Given the description of an element on the screen output the (x, y) to click on. 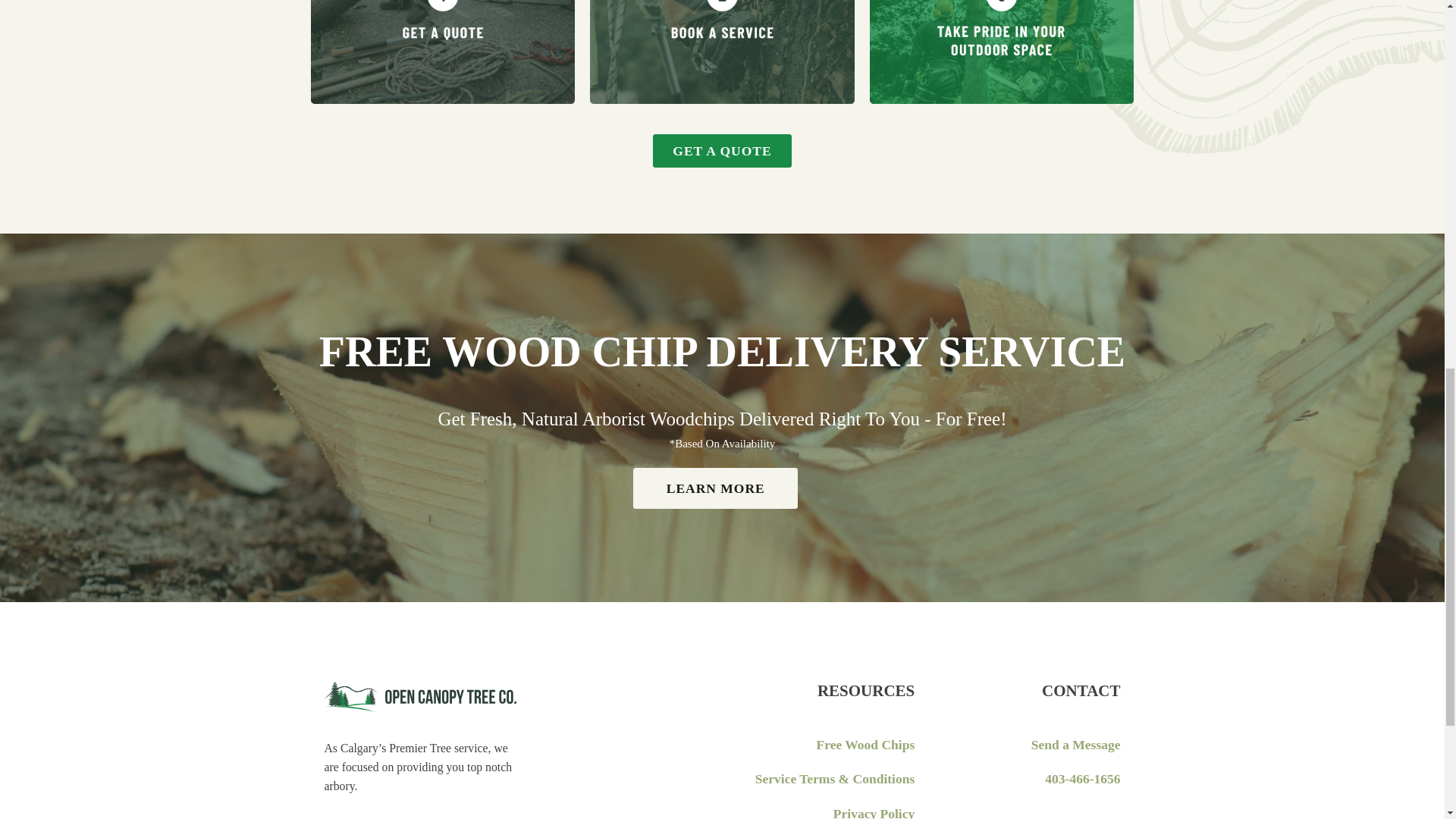
LEARN MORE (715, 488)
GET A QUOTE (721, 150)
